Given the description of an element on the screen output the (x, y) to click on. 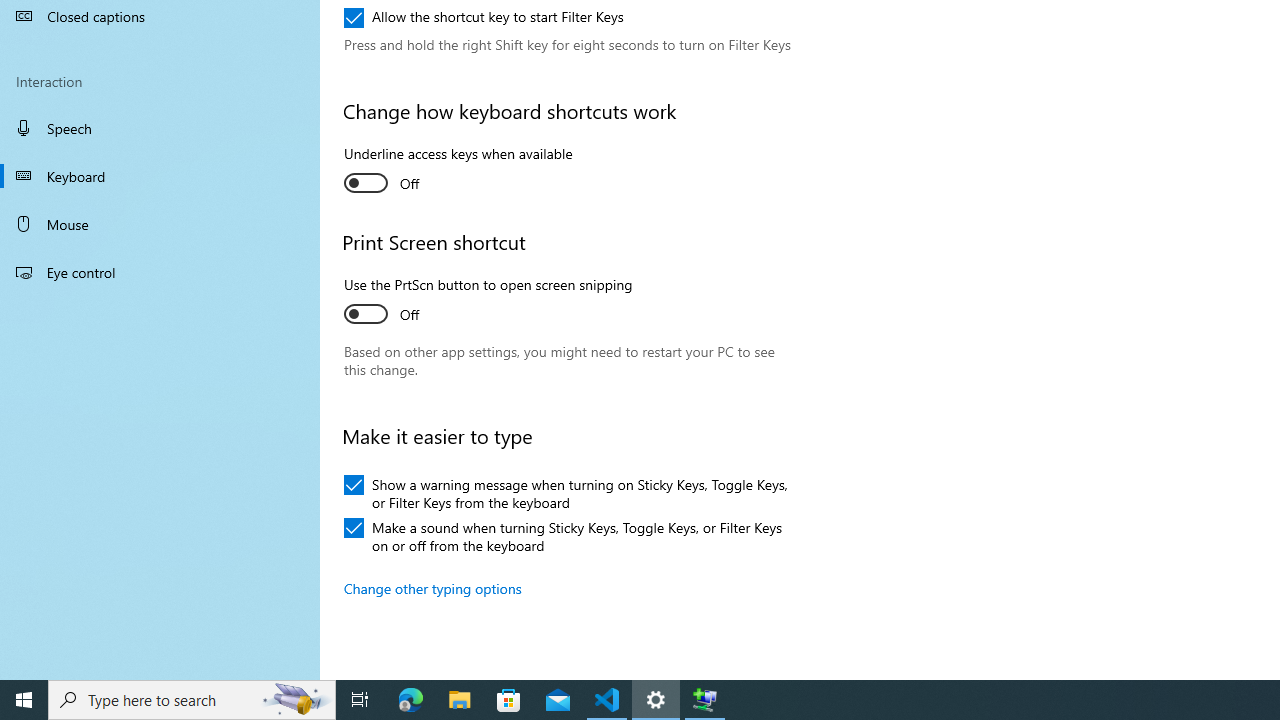
Settings - 1 running window (656, 699)
Search highlights icon opens search home window (295, 699)
Use the PrtScn button to open screen snipping (488, 302)
Microsoft Store (509, 699)
Visual Studio Code - 1 running window (607, 699)
